Given the description of an element on the screen output the (x, y) to click on. 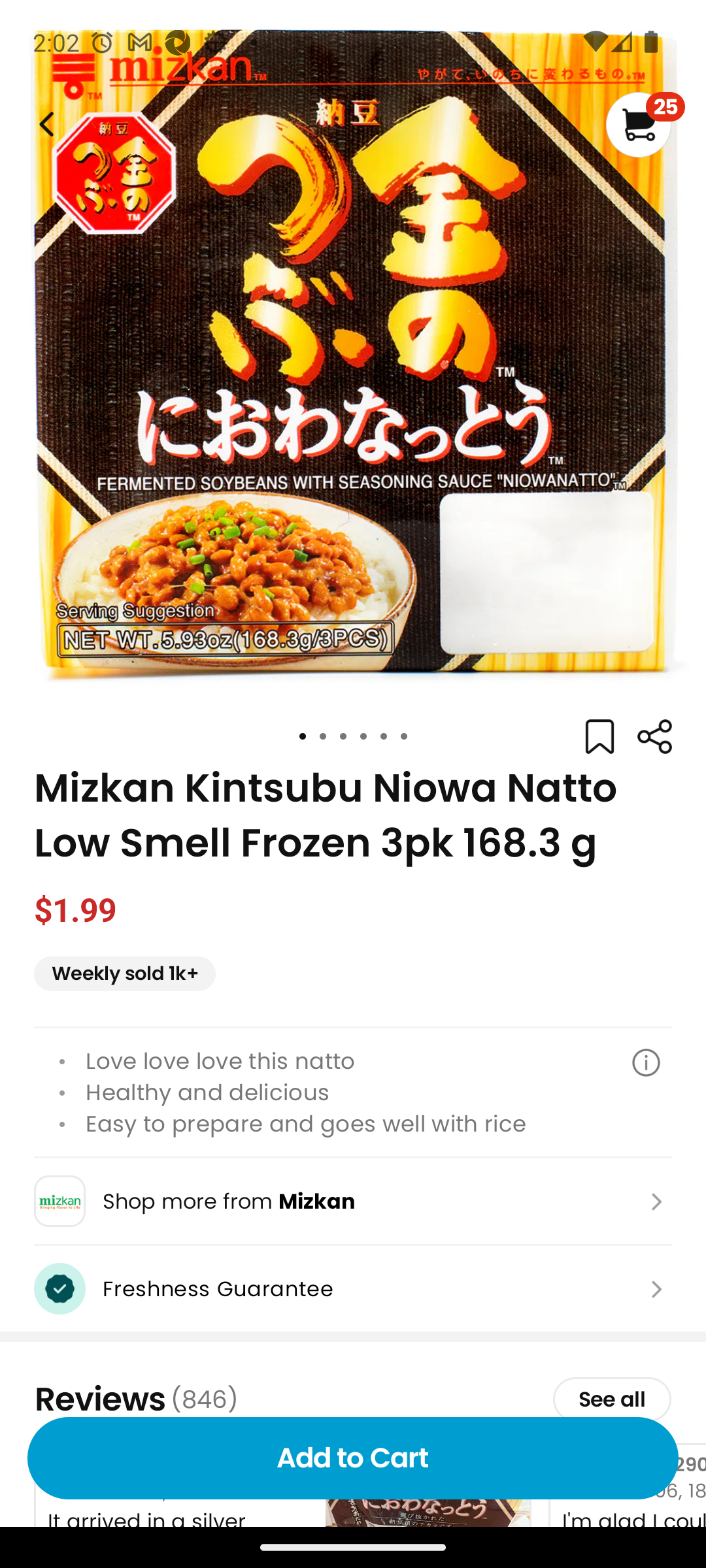
25 (644, 124)
Weee! (45, 124)
Weee! (653, 736)
Shop more from Mizkan Weee! (352, 1200)
Freshness Guarantee (352, 1288)
Reviews (846) See all (353, 1399)
Add to Cart (352, 1458)
